Given the description of an element on the screen output the (x, y) to click on. 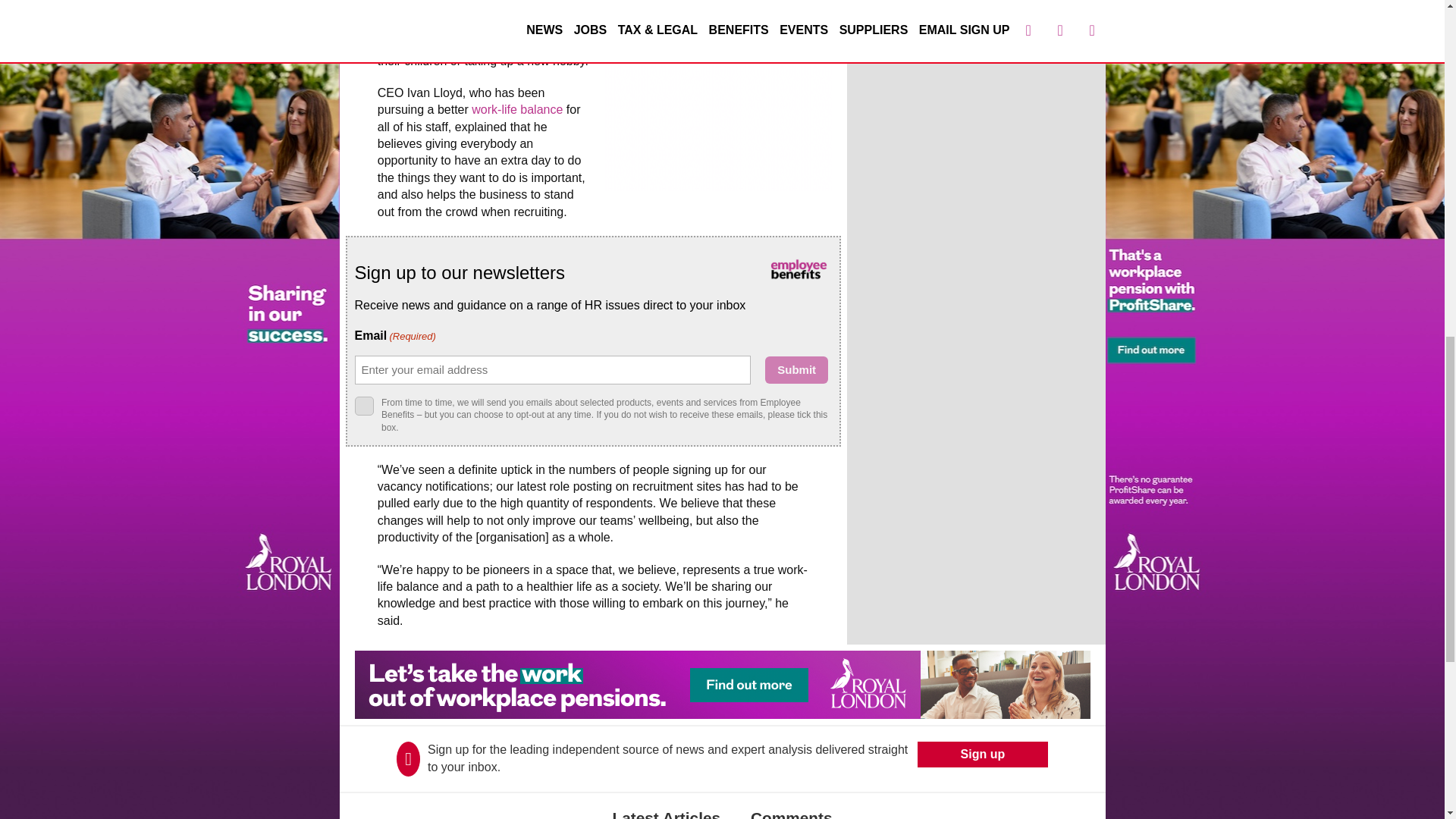
Comments (791, 805)
3rd party ad content (717, 95)
work-life balance (516, 109)
Latest Articles (665, 805)
Submit (796, 370)
3rd party ad content (722, 684)
yes (364, 405)
Submit (796, 370)
